Given the description of an element on the screen output the (x, y) to click on. 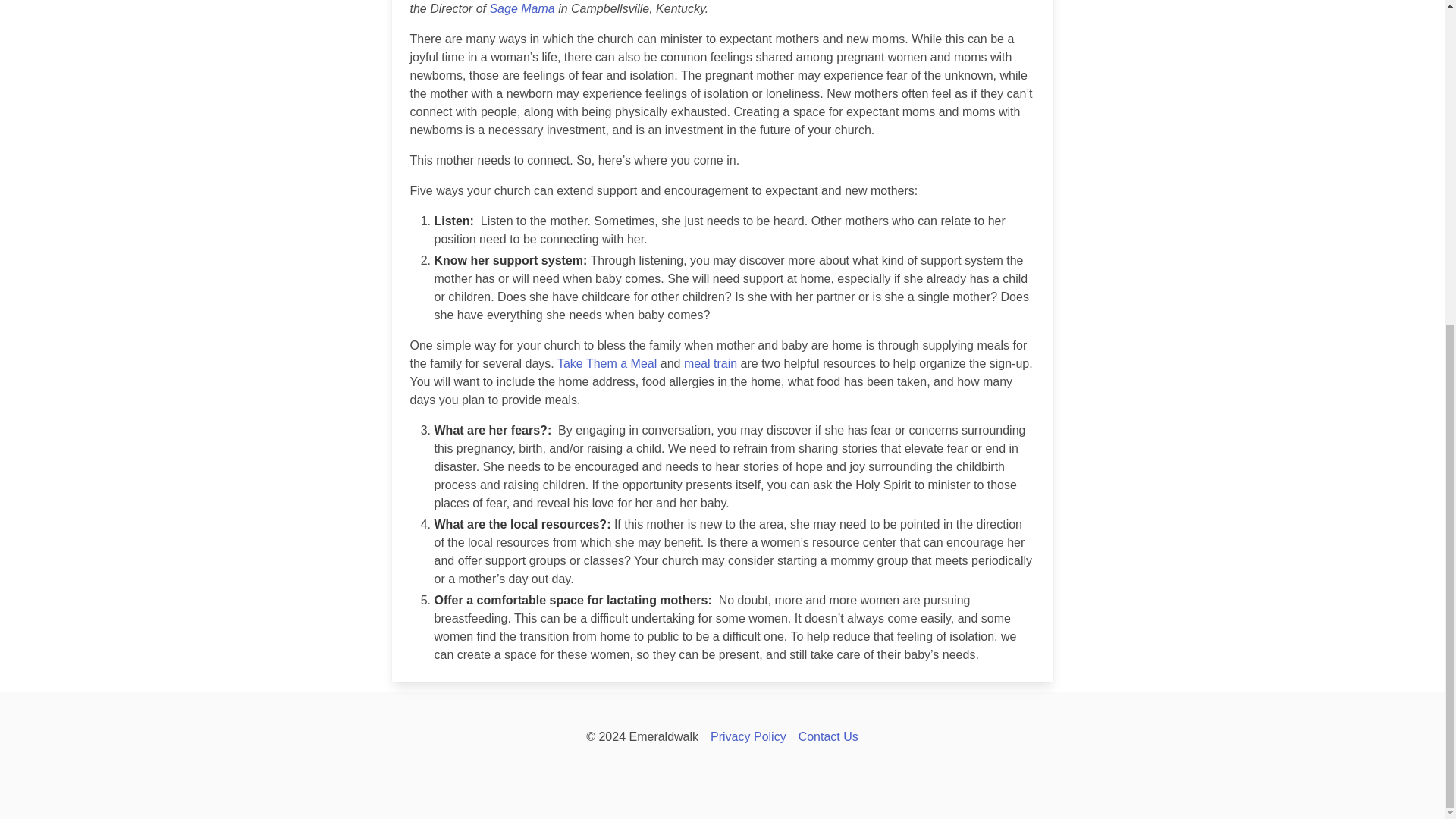
meal train (710, 363)
Privacy Policy (748, 736)
Contact Us (828, 736)
Privacy Policy (748, 736)
Sage Mama (521, 8)
Take Them a Meal (606, 363)
Contact Us (828, 736)
